Given the description of an element on the screen output the (x, y) to click on. 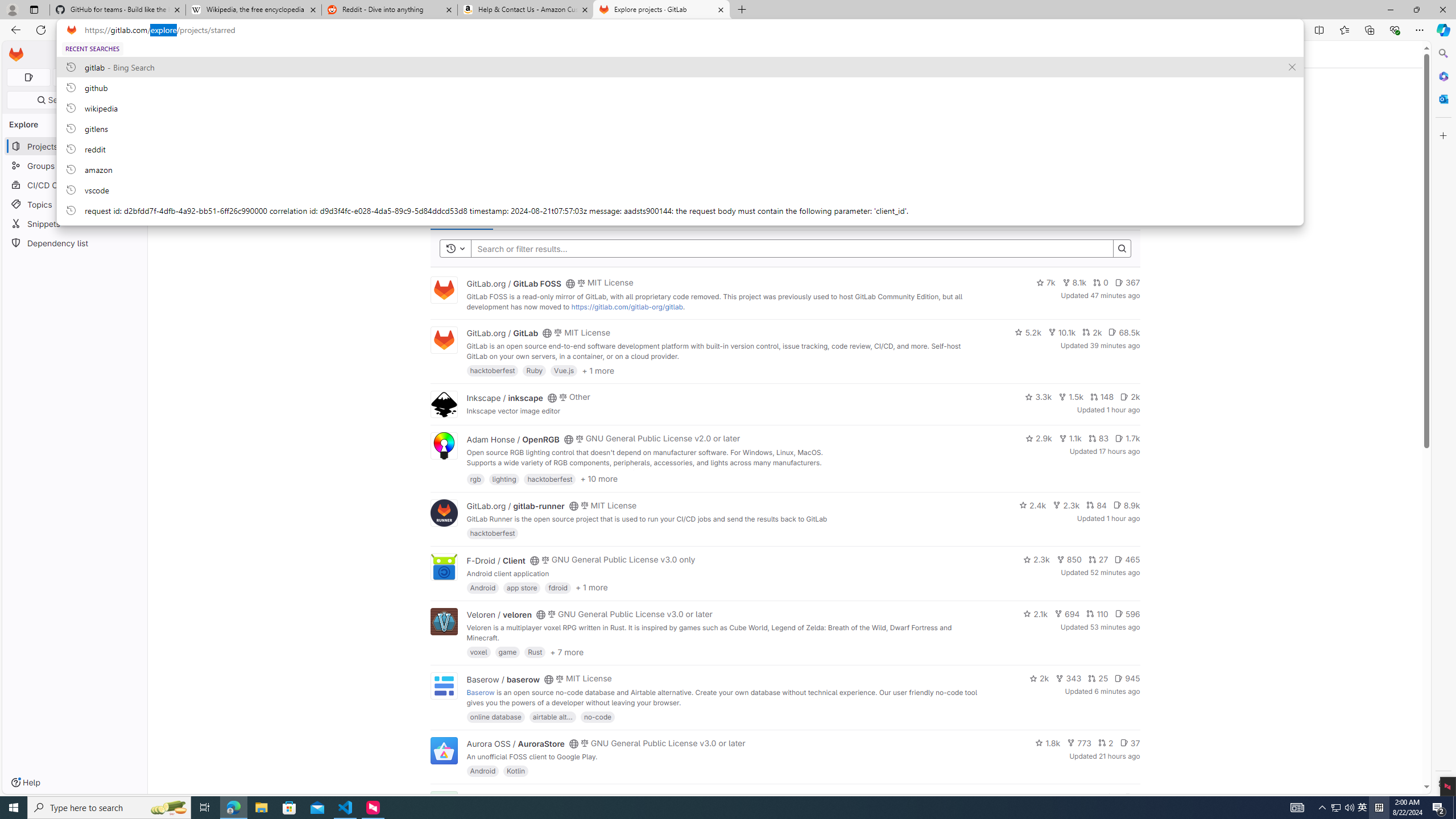
CI/CD Catalog (74, 185)
reddit, recent searches from history (679, 148)
https://gitlab.com/gitlab-org/gitlab (626, 306)
83 (1098, 438)
Trending (516, 216)
lighting (504, 478)
2.3k (1035, 559)
945 (1127, 678)
Dismiss trial promotion (1128, 93)
